Given the description of an element on the screen output the (x, y) to click on. 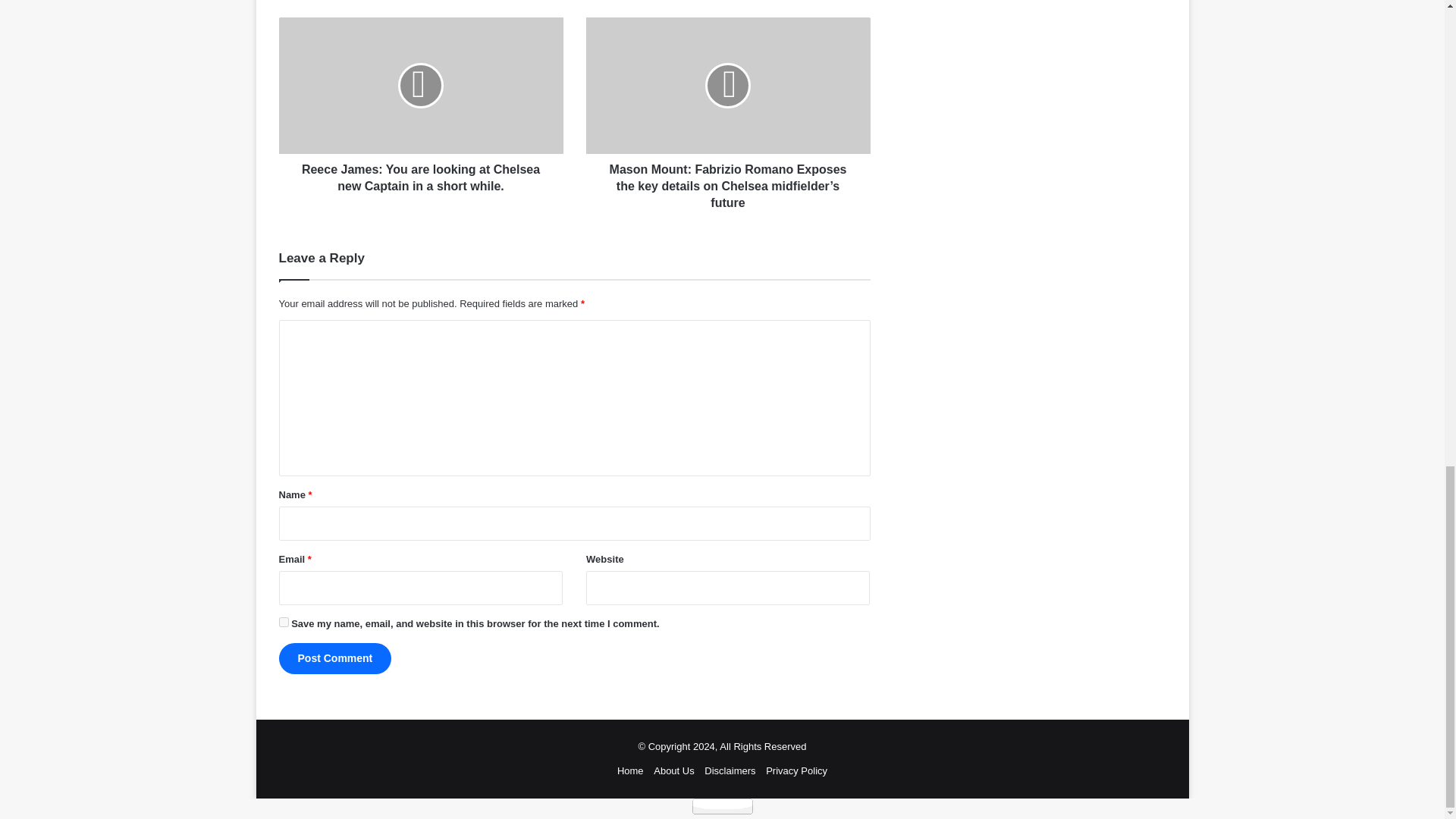
Post Comment (335, 658)
Free Online Counter (721, 806)
Post Comment (335, 658)
About Us (673, 770)
Home (630, 770)
yes (283, 622)
